Given the description of an element on the screen output the (x, y) to click on. 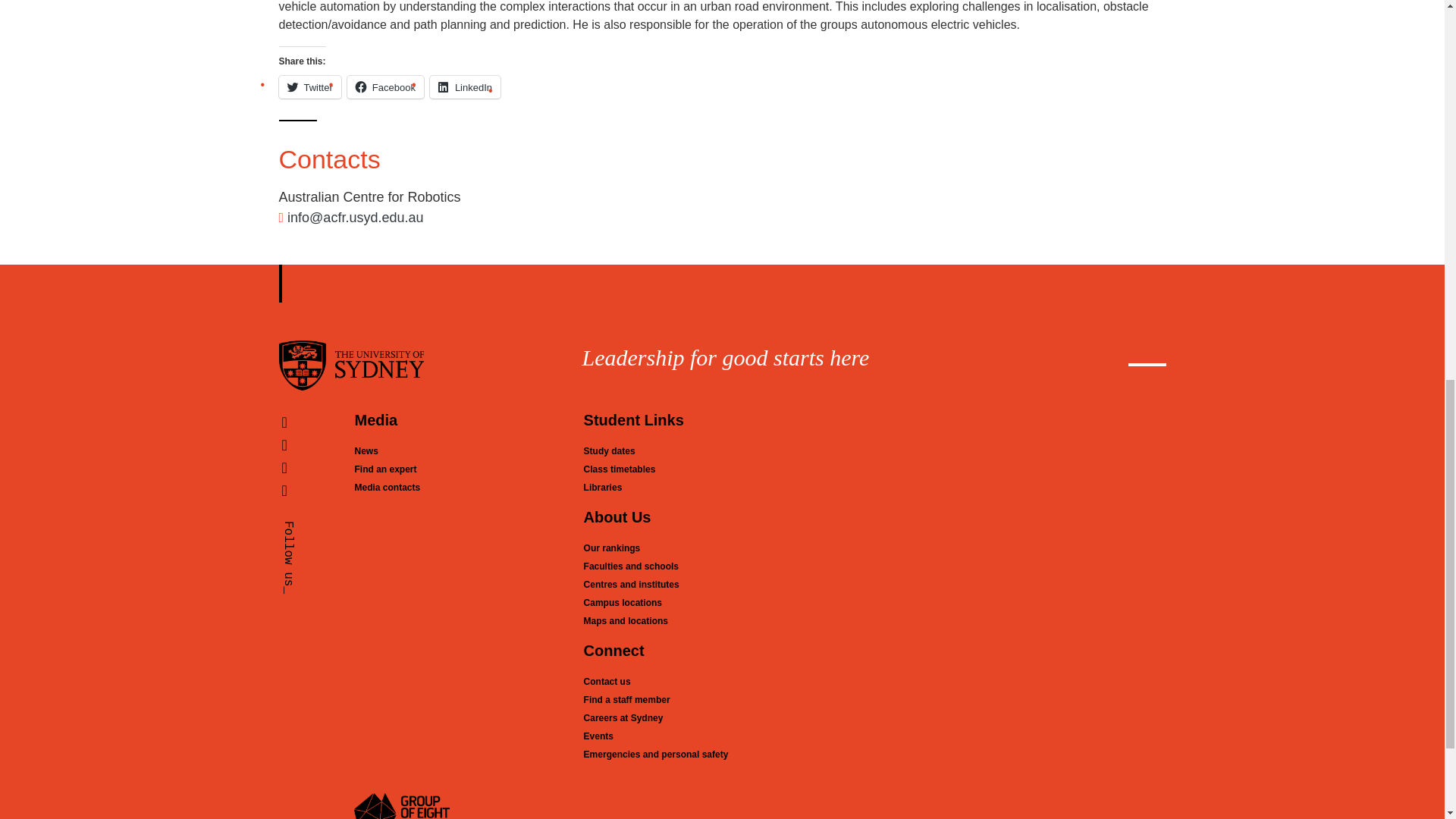
Click to share on Facebook (385, 87)
Click to share on Twitter (309, 87)
Click to share on LinkedIn (464, 87)
